Given the description of an element on the screen output the (x, y) to click on. 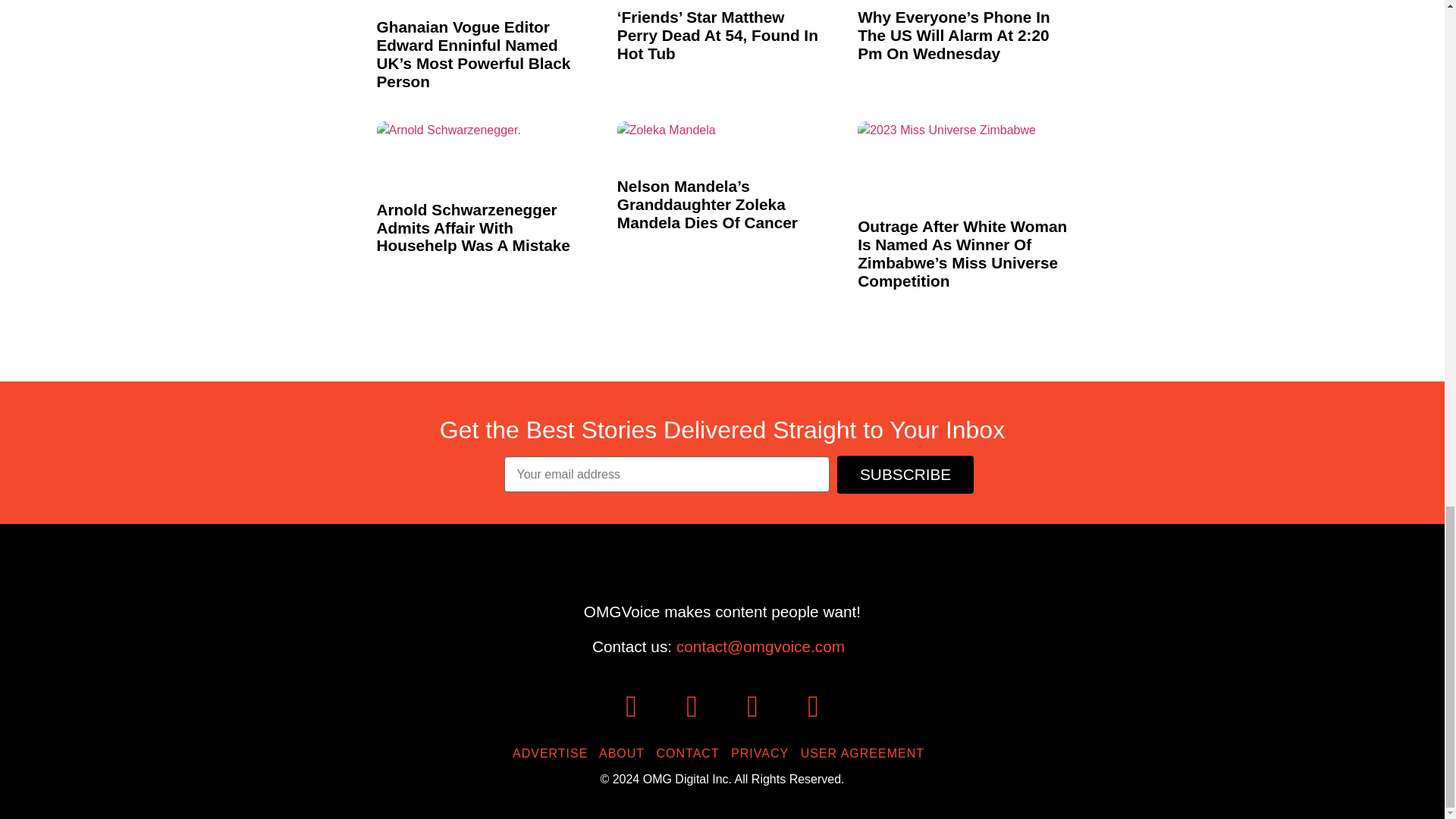
SUBSCRIBE (905, 474)
